Given the description of an element on the screen output the (x, y) to click on. 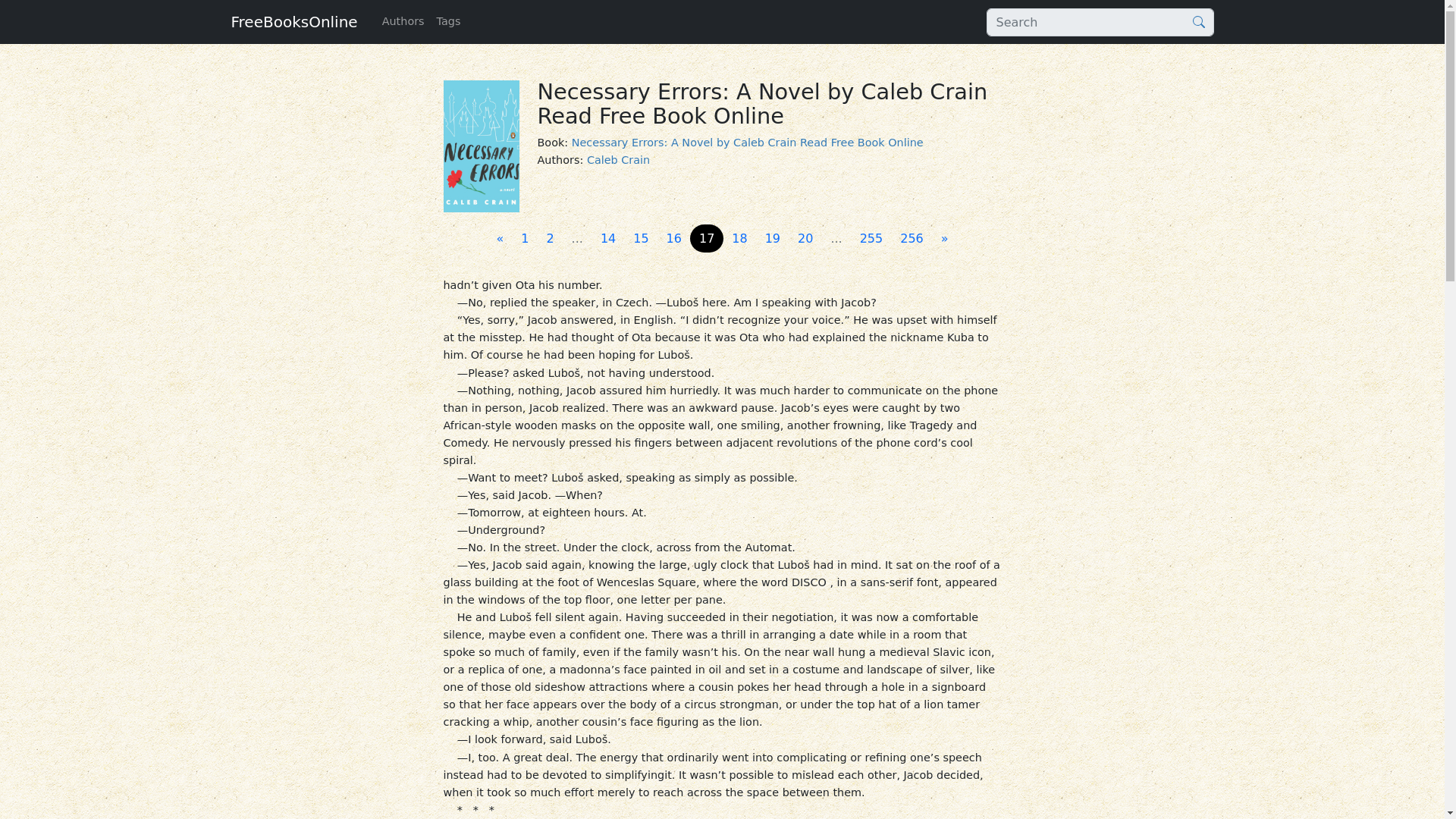
256 (912, 238)
20 (805, 238)
... (835, 238)
Tags (448, 21)
14 (607, 238)
FreeBooksOnline (293, 21)
17 (706, 238)
2 (549, 238)
1 (524, 238)
... (577, 238)
18 (738, 238)
Authors (402, 21)
255 (871, 238)
Caleb Crain (617, 159)
15 (641, 238)
